Given the description of an element on the screen output the (x, y) to click on. 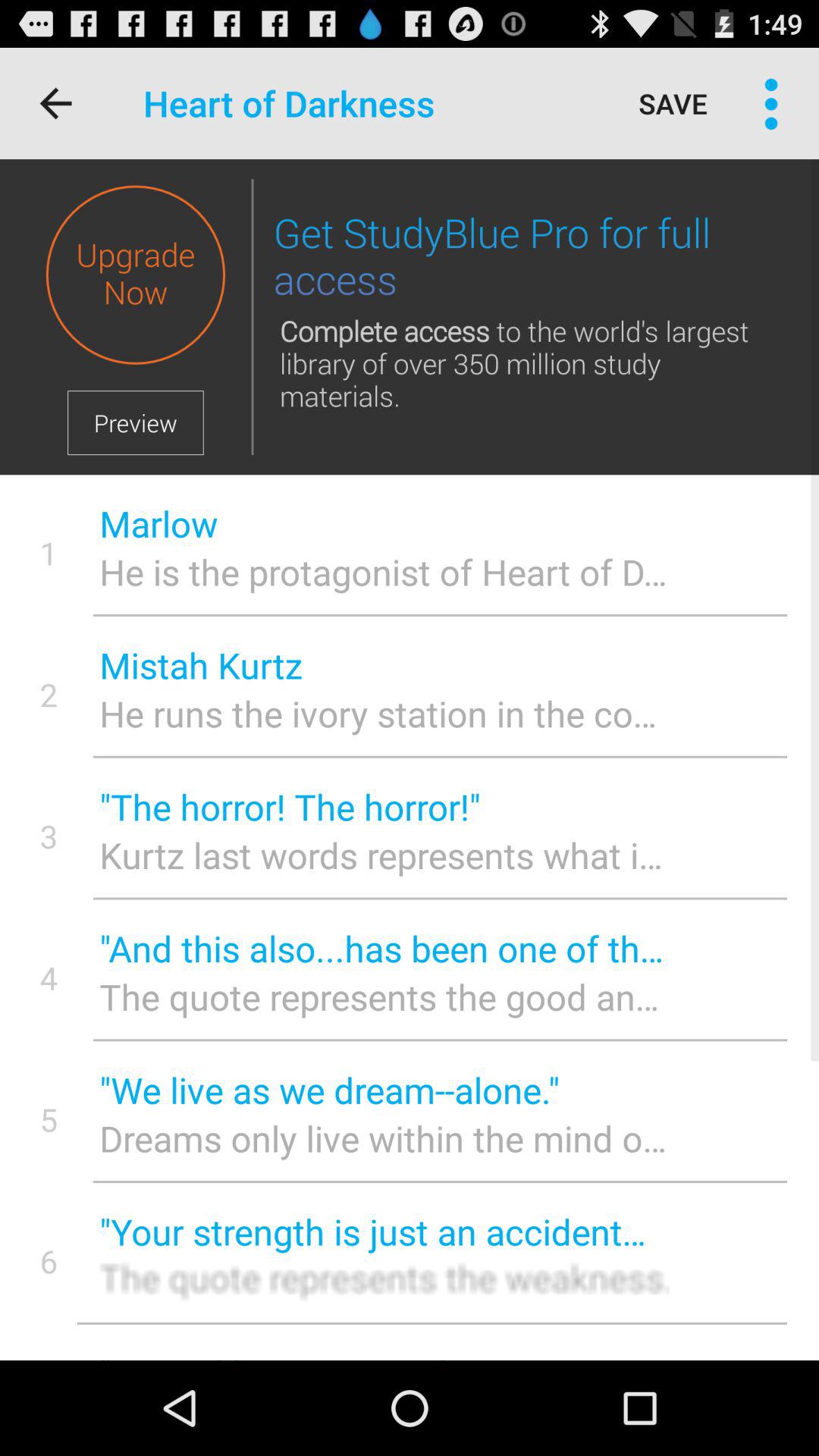
select save (672, 103)
